Given the description of an element on the screen output the (x, y) to click on. 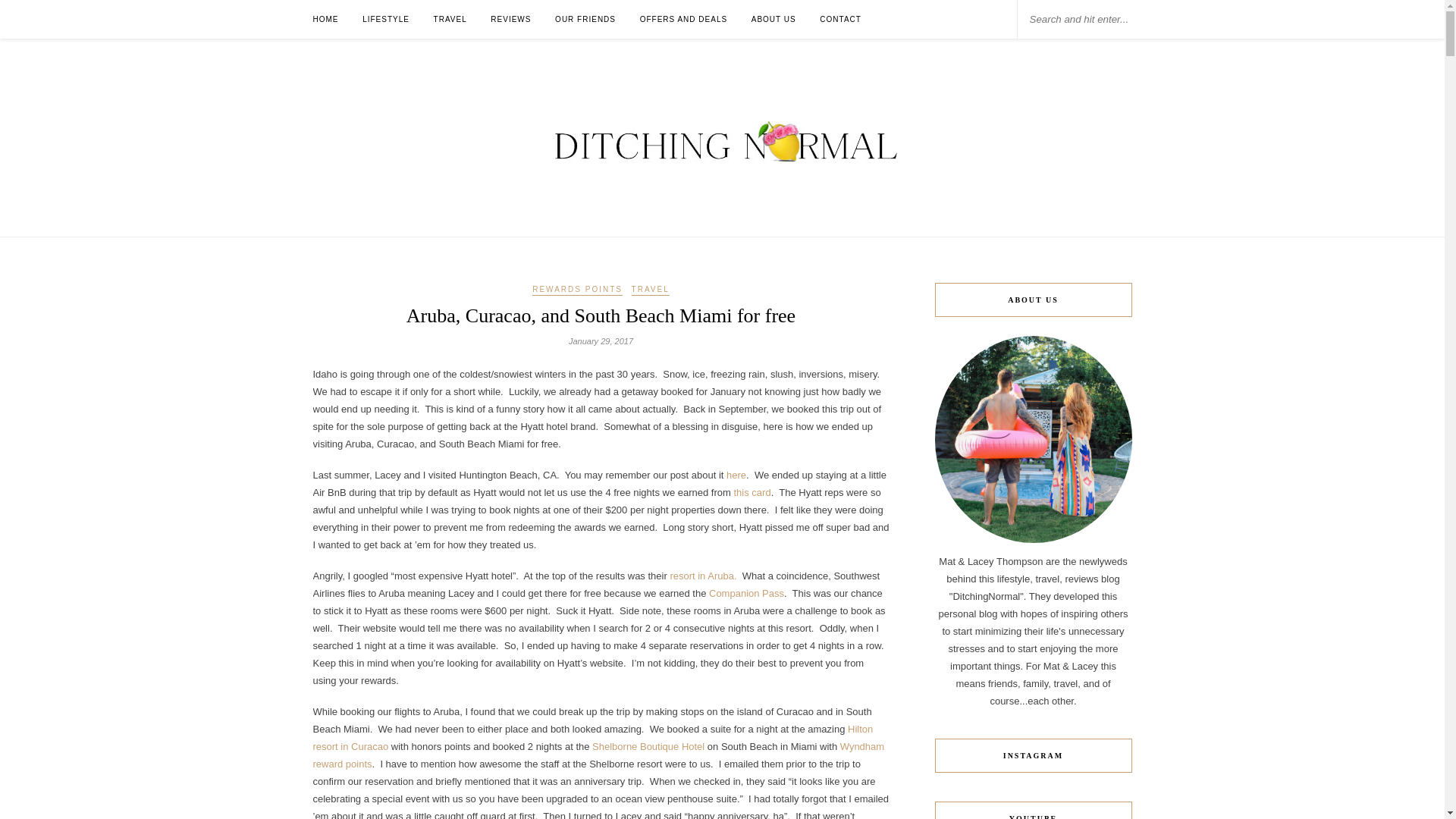
Shelborne Boutique Hotel (648, 746)
View all posts in Travel (650, 290)
LIFESTYLE (385, 19)
OFFERS AND DEALS (683, 19)
REVIEWS (510, 19)
TRAVEL (650, 290)
View all posts in Rewards Points (577, 290)
Hilton resort in Curacao (592, 737)
ABOUT US (773, 19)
resort in Aruba. (702, 575)
this card (751, 491)
Wyndham reward points (598, 755)
Companion Pass (746, 593)
OUR FRIENDS (584, 19)
REWARDS POINTS (577, 290)
